Given the description of an element on the screen output the (x, y) to click on. 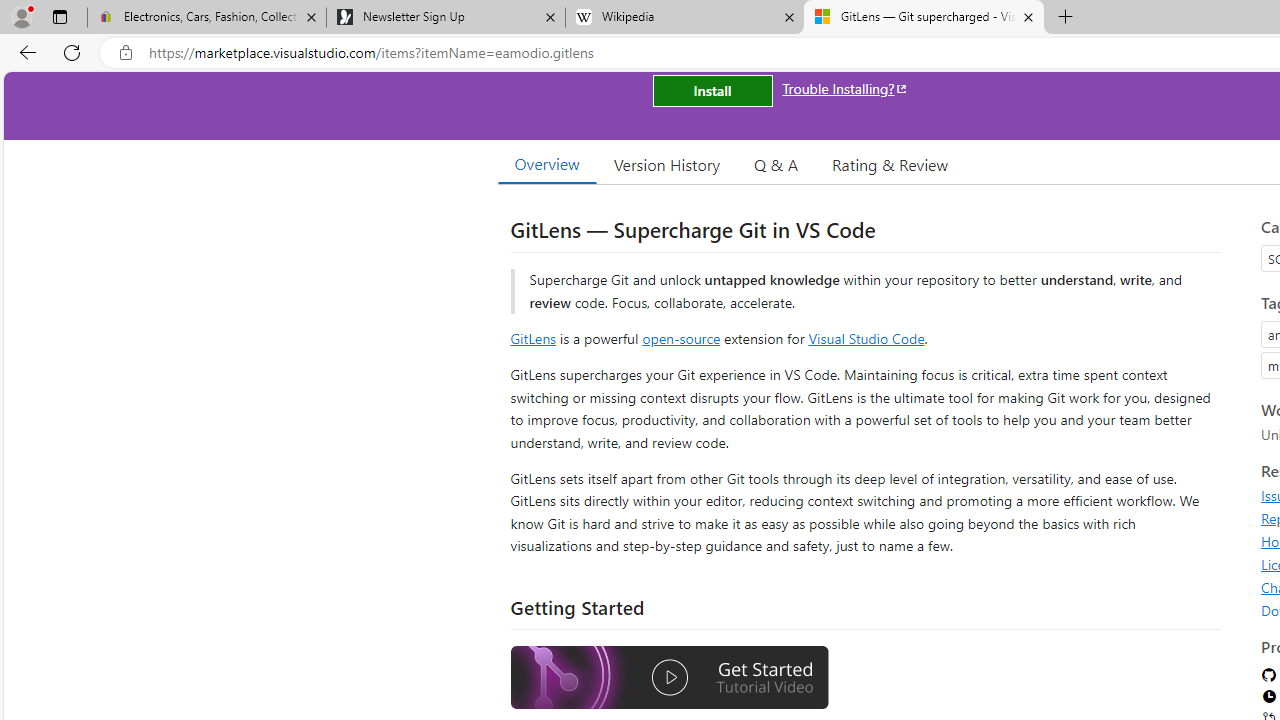
Version History (667, 164)
Watch the GitLens Getting Started video (669, 678)
Install (712, 90)
Visual Studio Code (866, 337)
Q & A (776, 164)
Newsletter Sign Up (445, 17)
Rating & Review (890, 164)
open-source (681, 337)
